Given the description of an element on the screen output the (x, y) to click on. 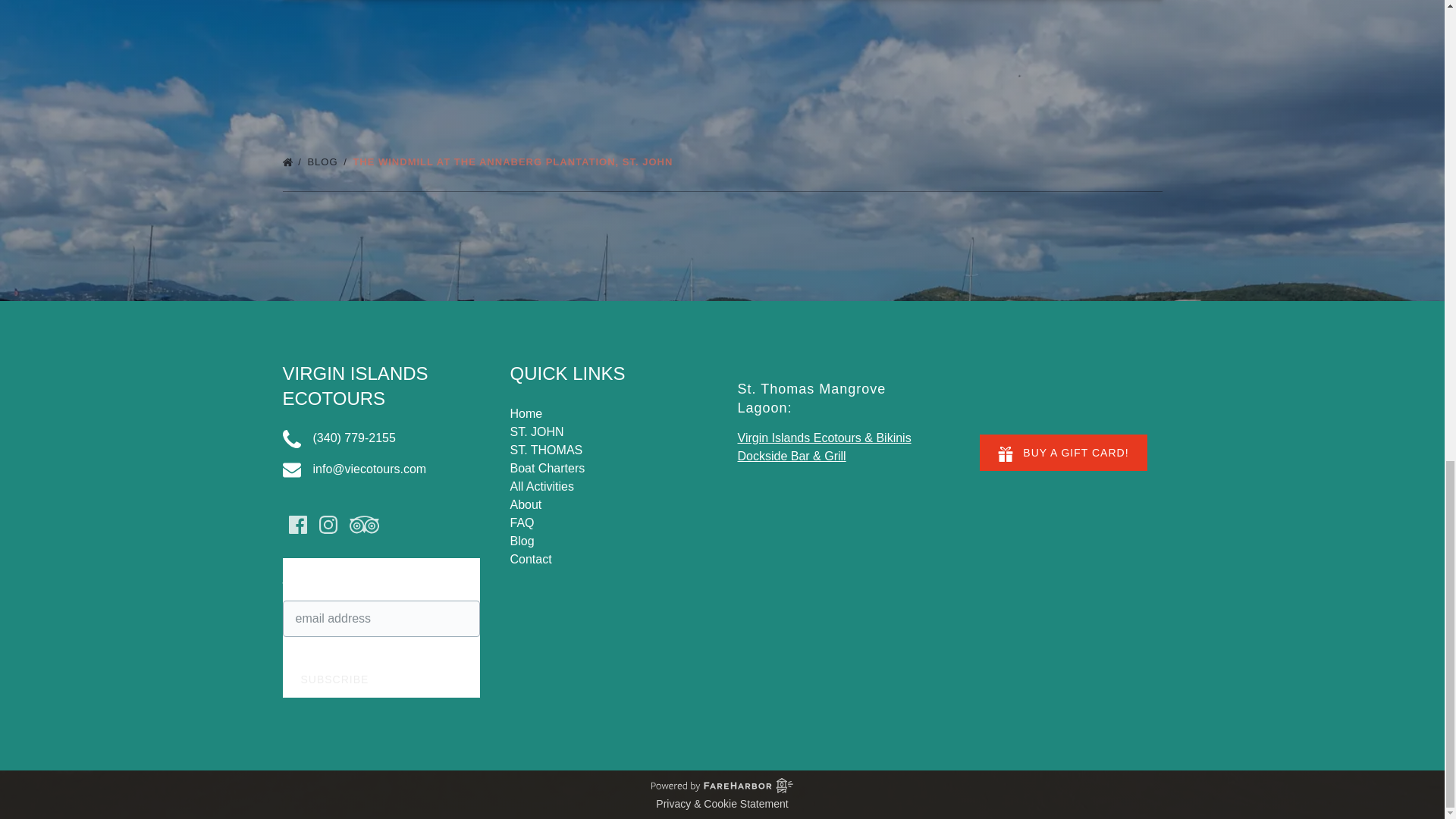
GIFT (1005, 453)
Phone (290, 438)
Subscribe (334, 678)
BLOG (328, 161)
Envelope (290, 470)
THE WINDMILL AT THE ANNABERG PLANTATION, ST. JOHN (516, 161)
